Given the description of an element on the screen output the (x, y) to click on. 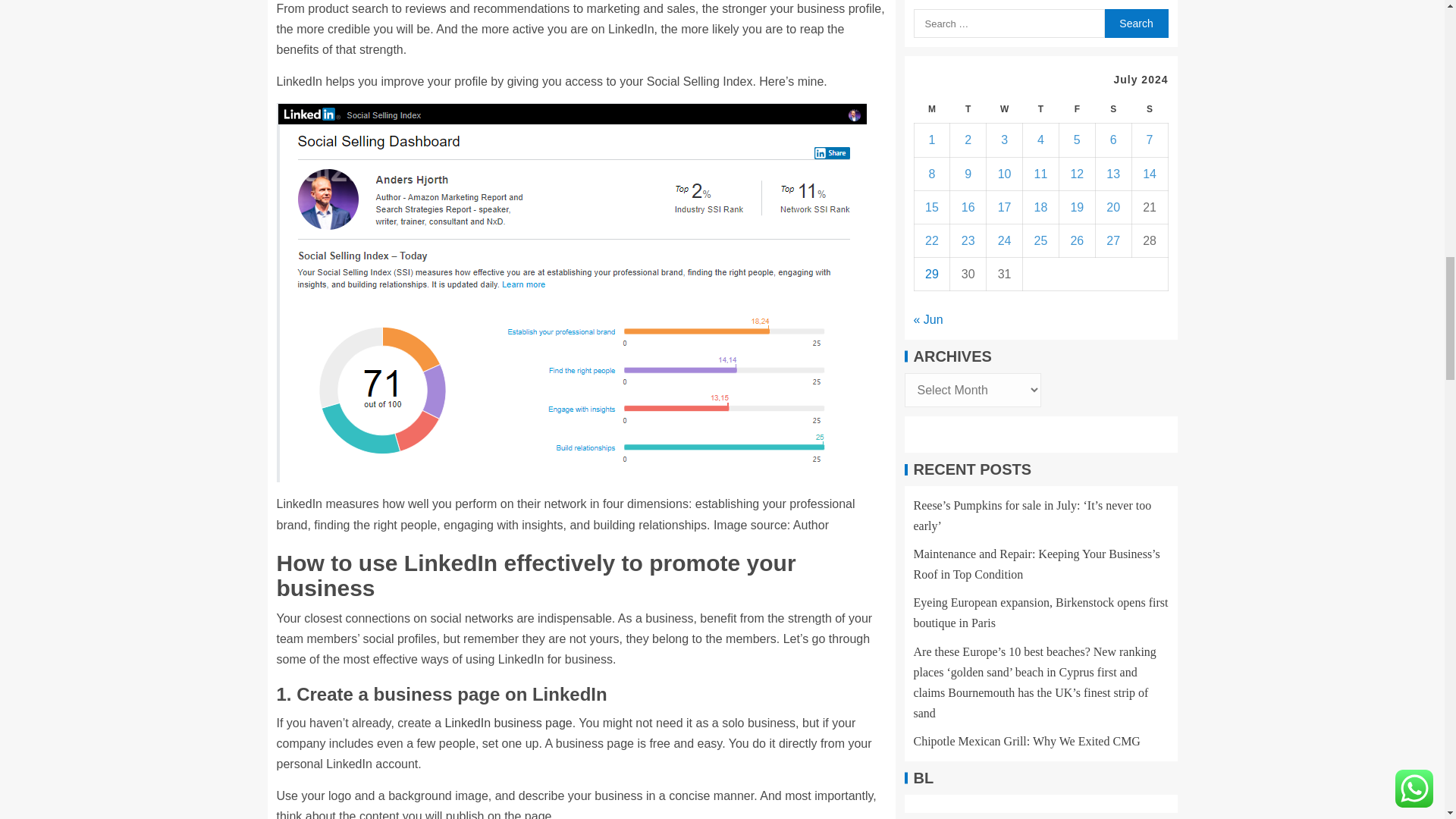
LinkedIn business page (508, 722)
